Given the description of an element on the screen output the (x, y) to click on. 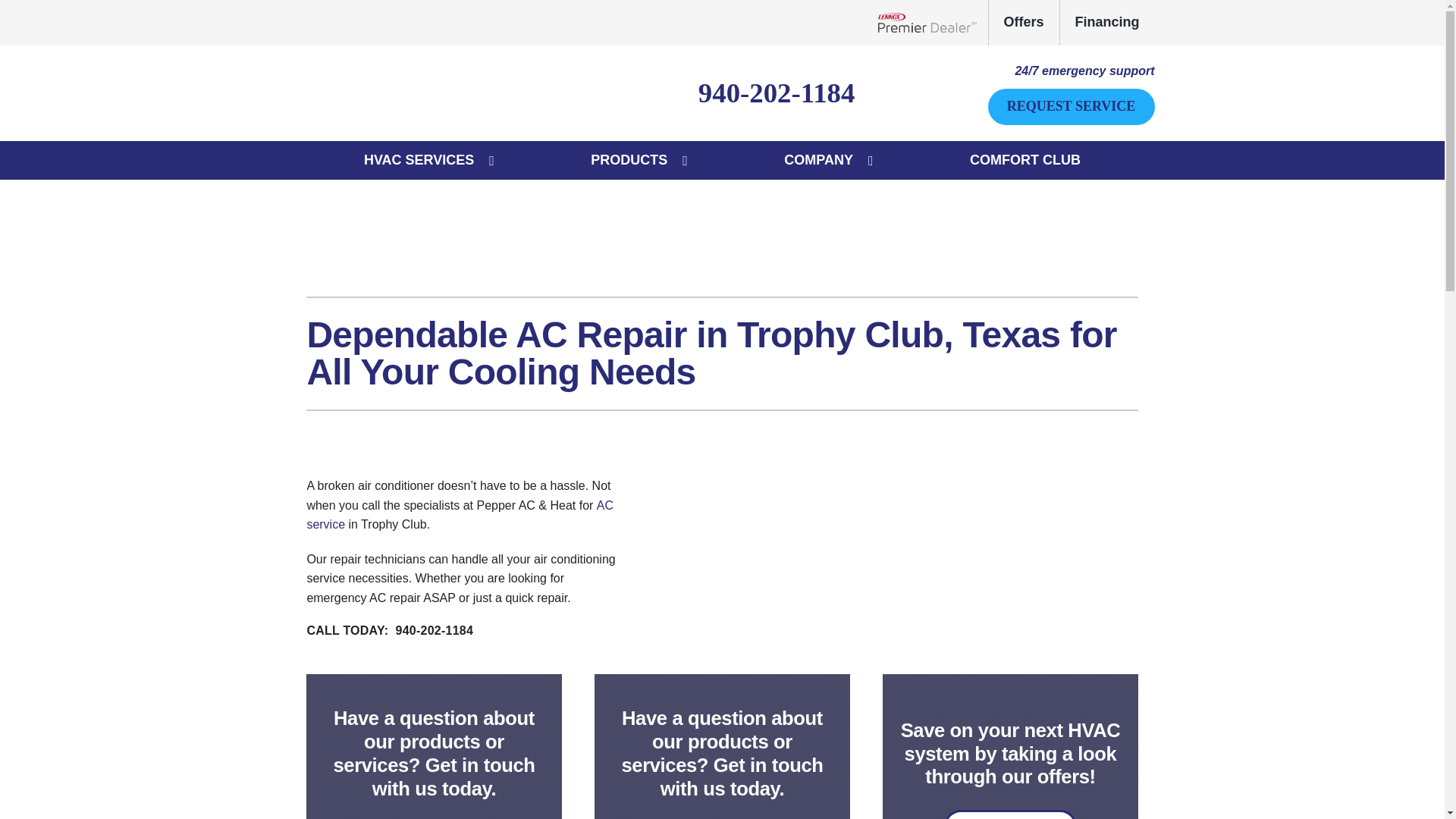
COMPANY (817, 160)
HVAC SERVICES (419, 160)
REQUEST SERVICE (1071, 106)
Financing (1106, 22)
Offers (1023, 22)
PRODUCTS (628, 160)
940-202-1184 (776, 92)
